Given the description of an element on the screen output the (x, y) to click on. 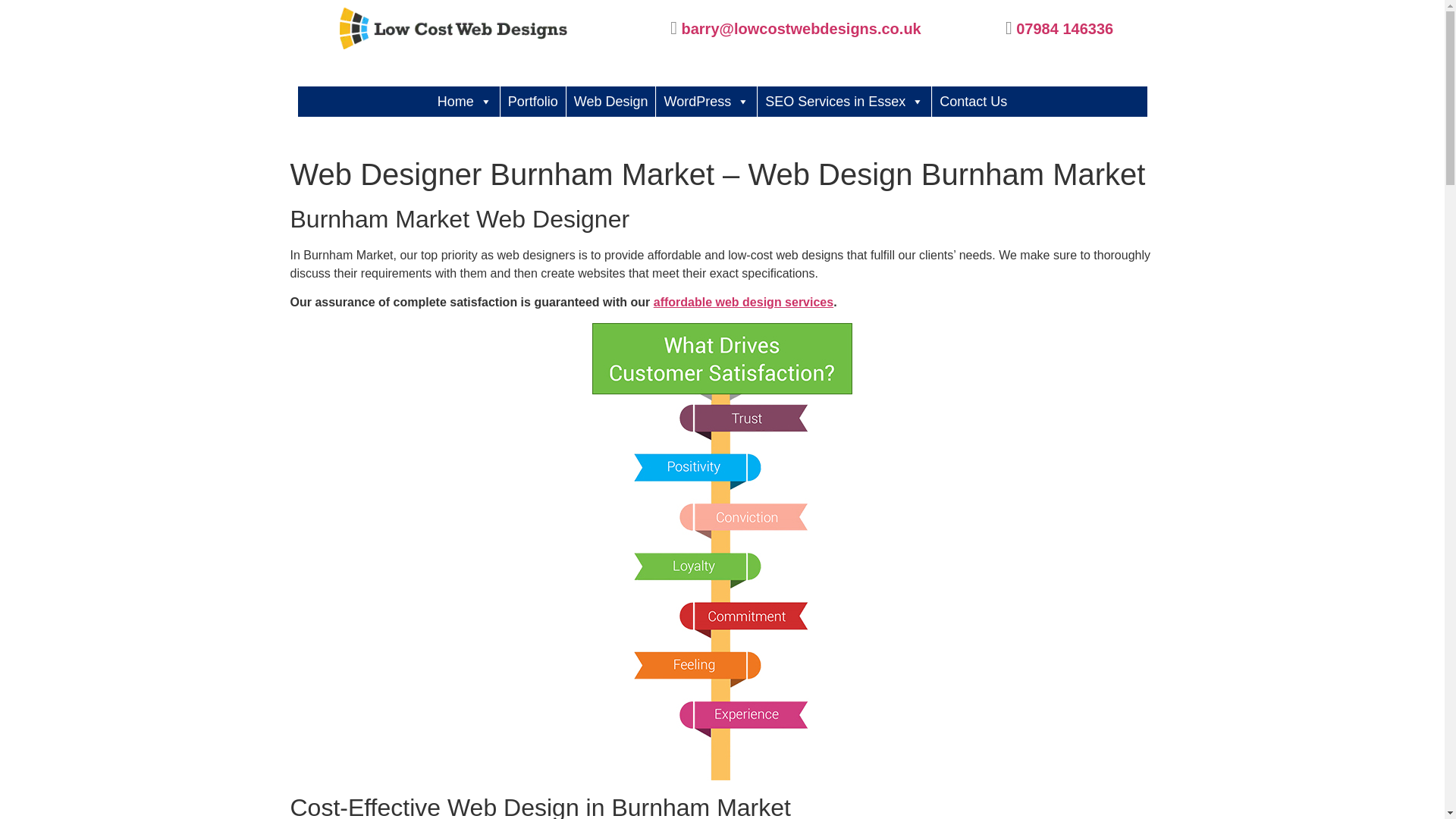
affordable web design services (742, 301)
Contact Us (972, 101)
Home (464, 101)
WordPress (706, 101)
A Simple Key For Affordable Web Design Services (742, 301)
Web Design (611, 101)
SEO Services in Essex (844, 101)
Portfolio (533, 101)
07984 146336 (1064, 27)
